Given the description of an element on the screen output the (x, y) to click on. 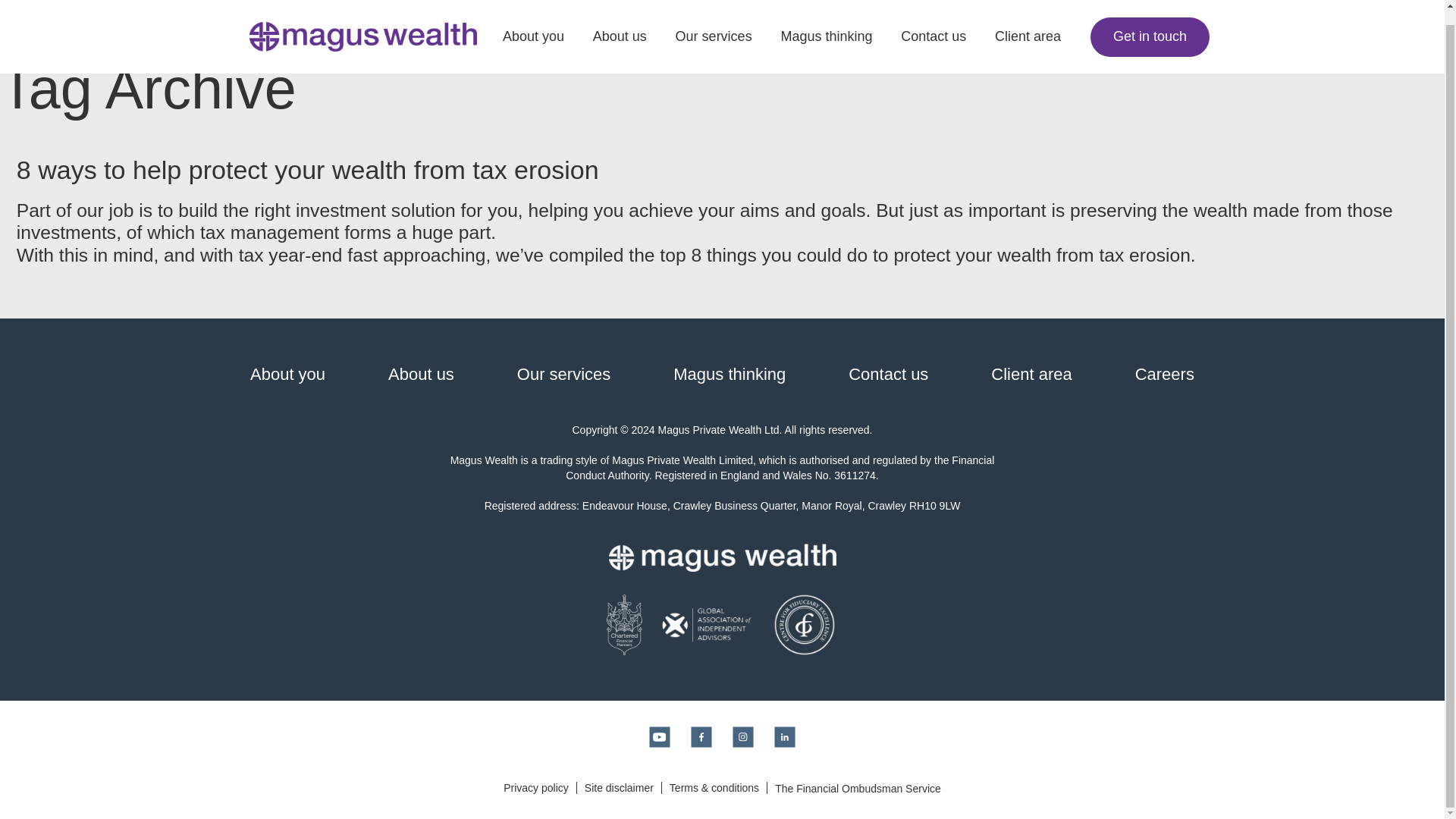
Client area (1027, 29)
Magus thinking (729, 374)
About you (287, 374)
About you (532, 29)
About us (619, 29)
Our services (563, 374)
Magus thinking (826, 29)
Contact us (932, 29)
8 ways to help protect your wealth from tax erosion (307, 169)
Get in touch (1149, 22)
